Given the description of an element on the screen output the (x, y) to click on. 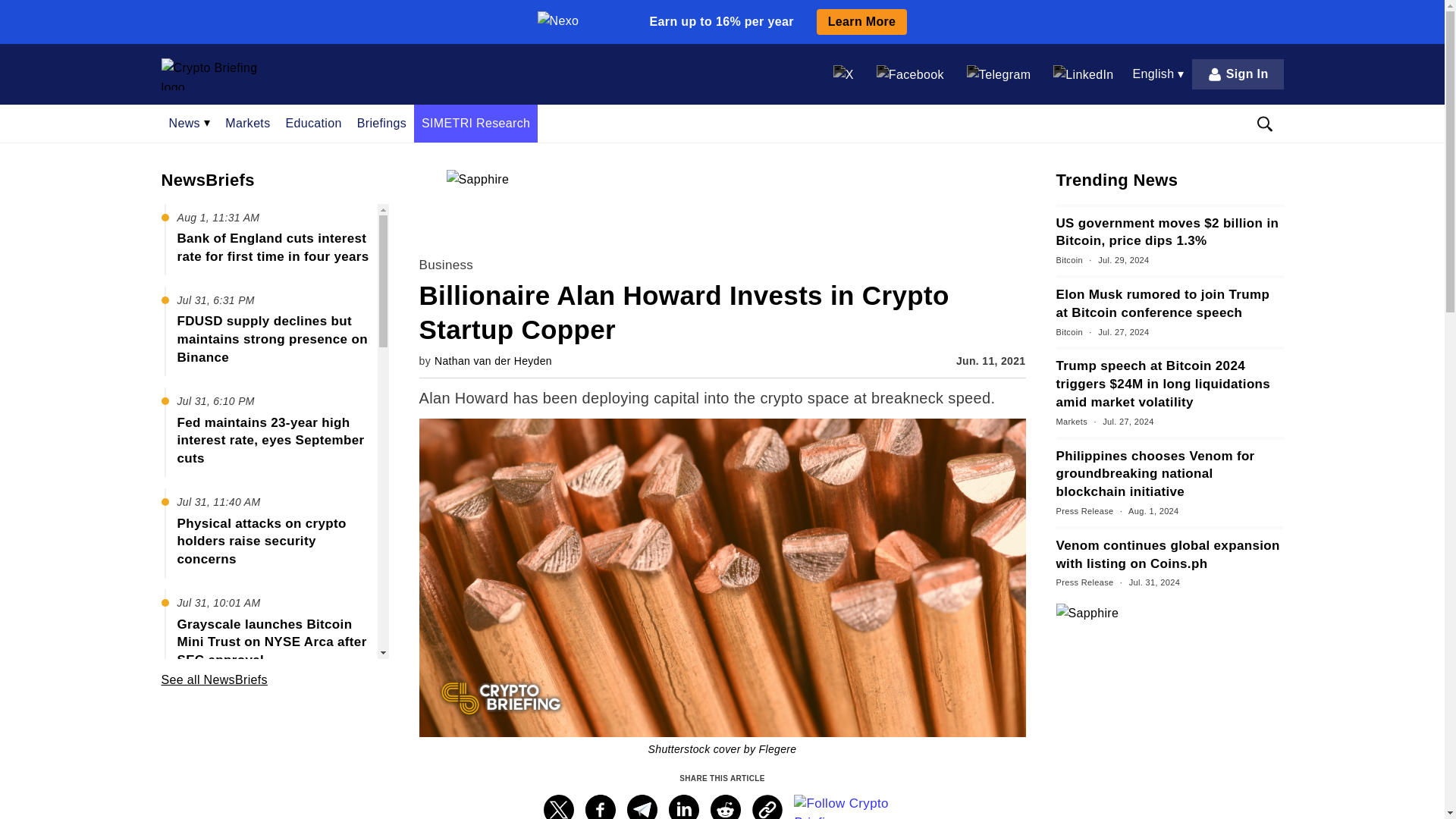
Sign In (1238, 73)
Learn More (861, 22)
News (188, 123)
Sign In (1238, 73)
